Given the description of an element on the screen output the (x, y) to click on. 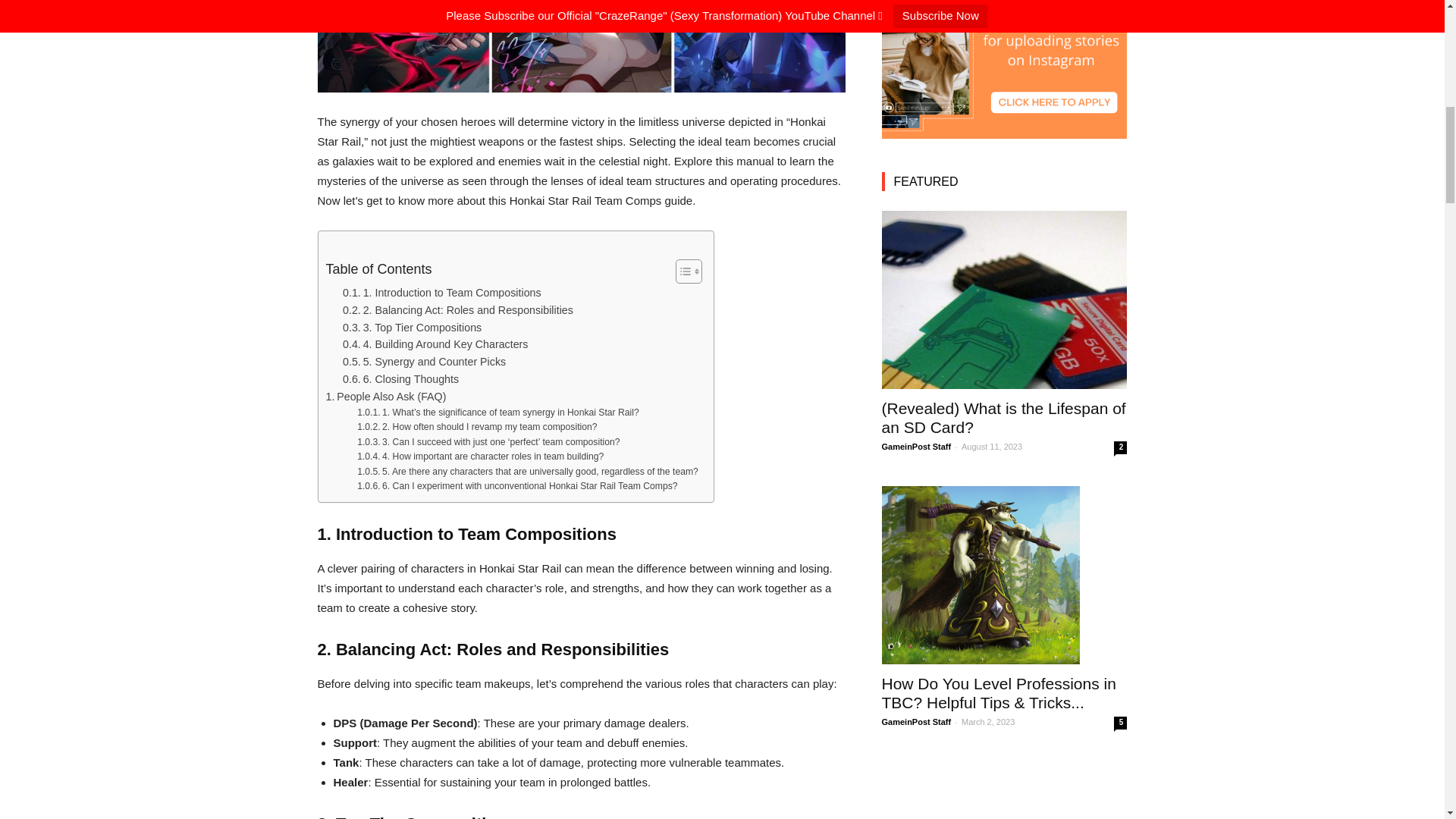
3. Top Tier Compositions (411, 327)
6. Closing Thoughts (400, 379)
5. Synergy and Counter Picks (423, 361)
4. Building Around Key Characters (434, 343)
1. Introduction to Team Compositions (441, 293)
2. Balancing Act: Roles and Responsibilities (457, 310)
